Given the description of an element on the screen output the (x, y) to click on. 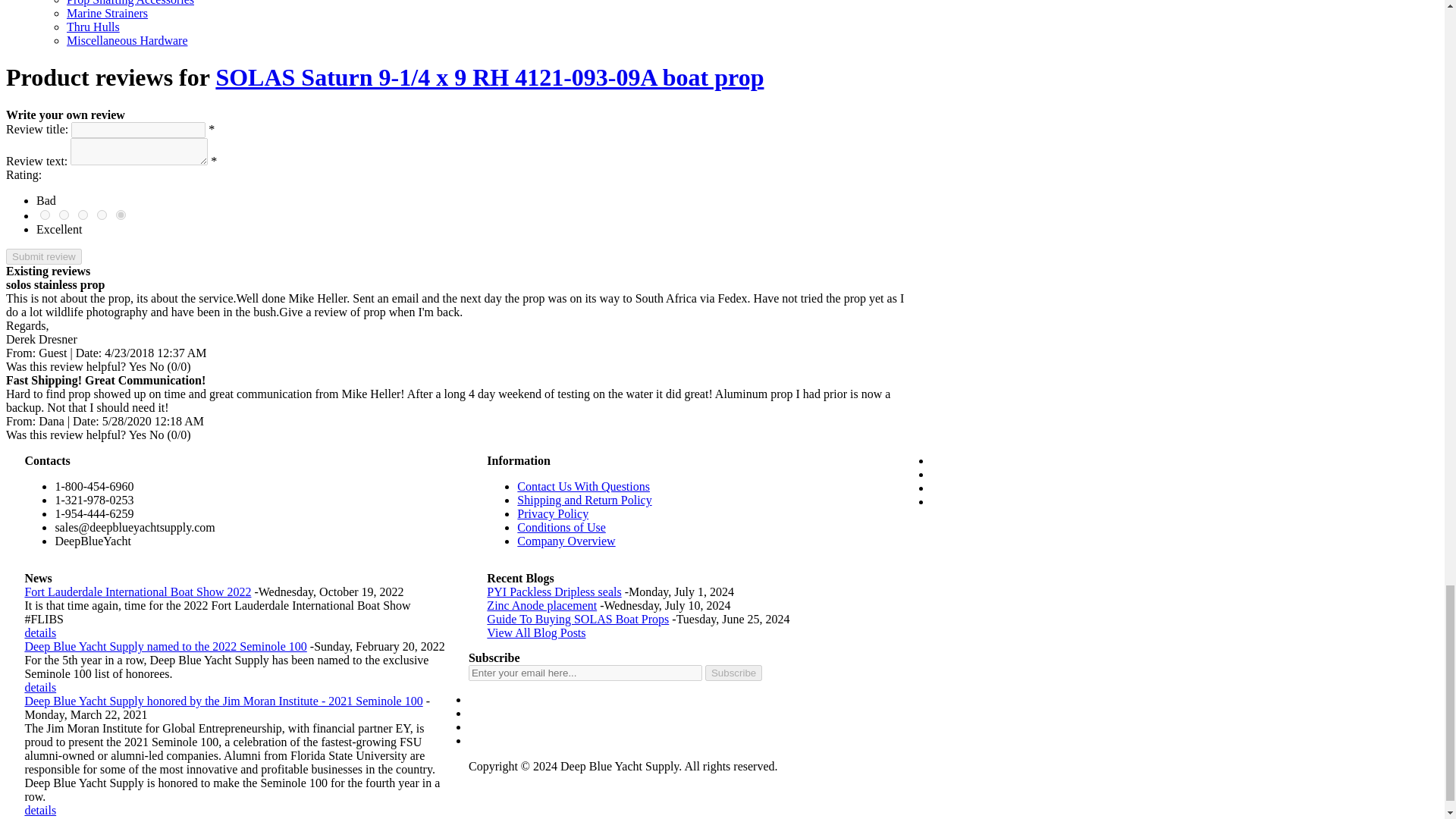
4 (101, 214)
5 (120, 214)
Submit review (43, 256)
2 (63, 214)
Subscribe (732, 672)
3 (82, 214)
1 (44, 214)
